Given the description of an element on the screen output the (x, y) to click on. 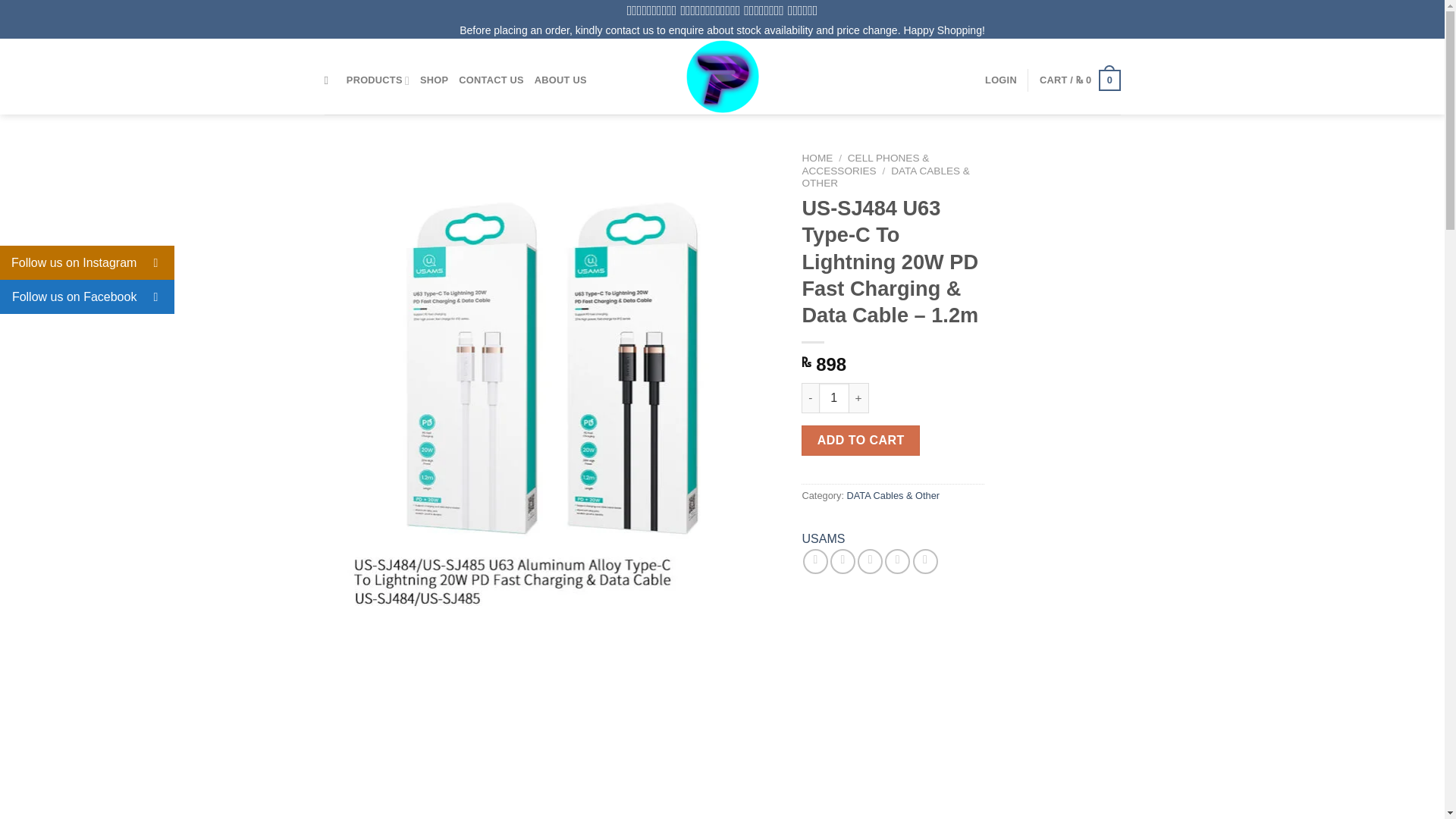
Pin on Pinterest (897, 561)
PRODUCTS (377, 80)
Email to a Friend (869, 561)
Cart (1080, 79)
LOGIN (1000, 80)
CONTACT US (491, 80)
Share on LinkedIn (924, 561)
Qty (833, 398)
SHOP (434, 80)
1 (833, 398)
Share on Facebook (815, 561)
View brand (823, 538)
Share on Twitter (842, 561)
ABOUT US (560, 80)
Pollux PC Game Store - Best Online PC Store in Pakistan (722, 76)
